Given the description of an element on the screen output the (x, y) to click on. 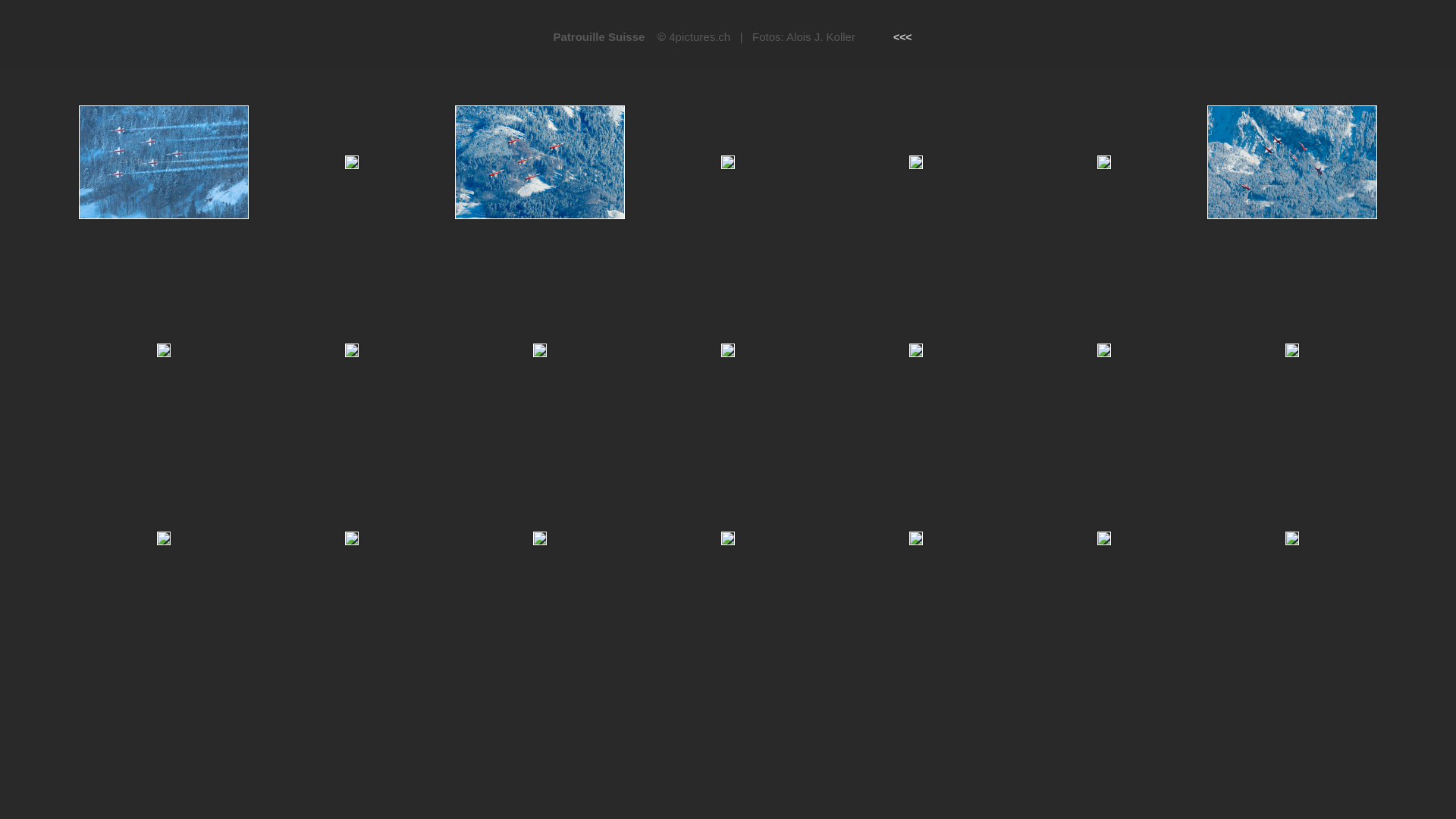
<<< Element type: text (902, 36)
